Given the description of an element on the screen output the (x, y) to click on. 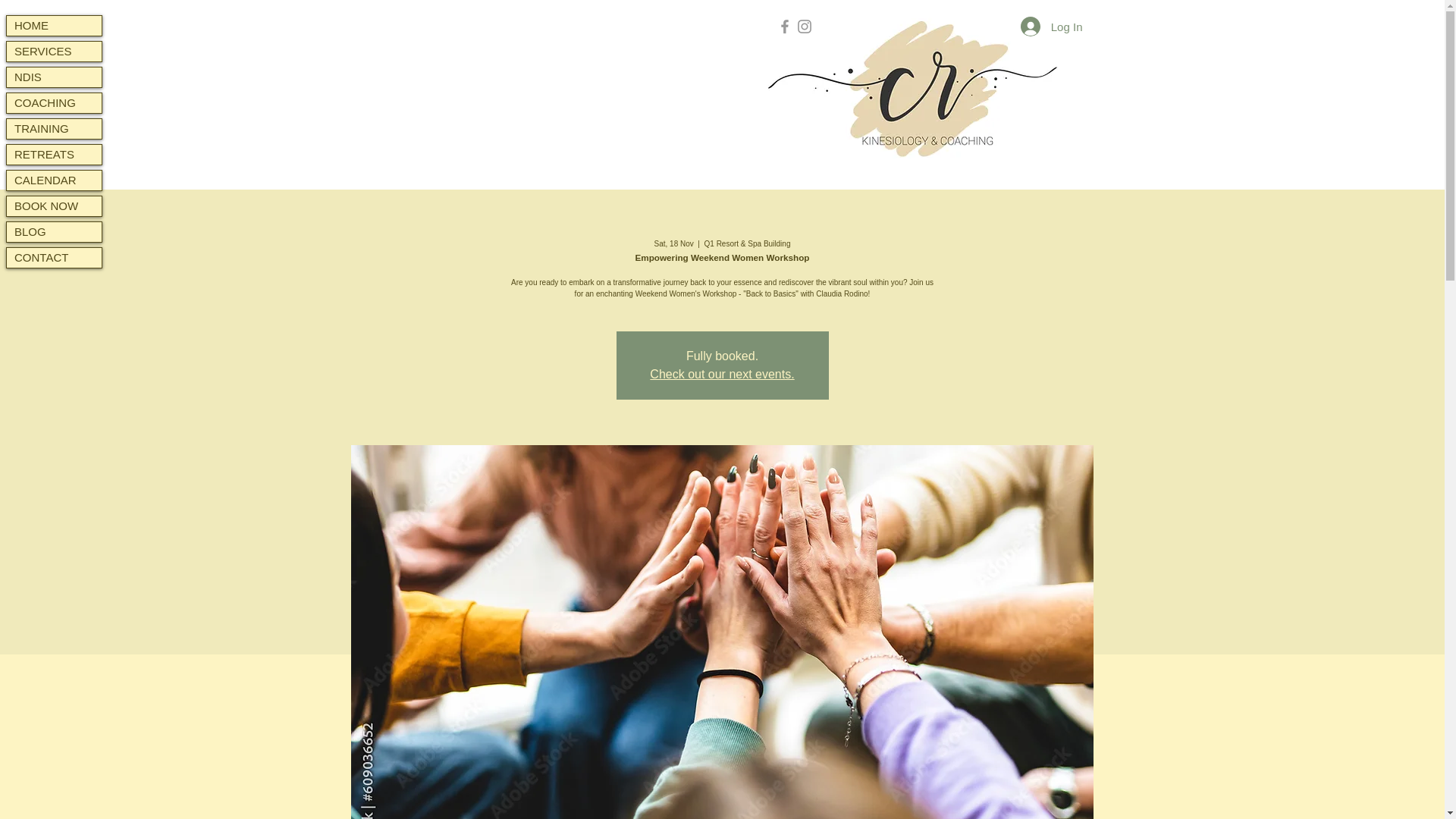
CONTACT (54, 257)
SERVICES (54, 51)
RETREATS (54, 154)
Log In (1051, 26)
BLOG (54, 231)
BOOK NOW (54, 206)
HOME (54, 25)
Check out our next events. (721, 373)
CALENDAR (54, 180)
NDIS (54, 76)
